Given the description of an element on the screen output the (x, y) to click on. 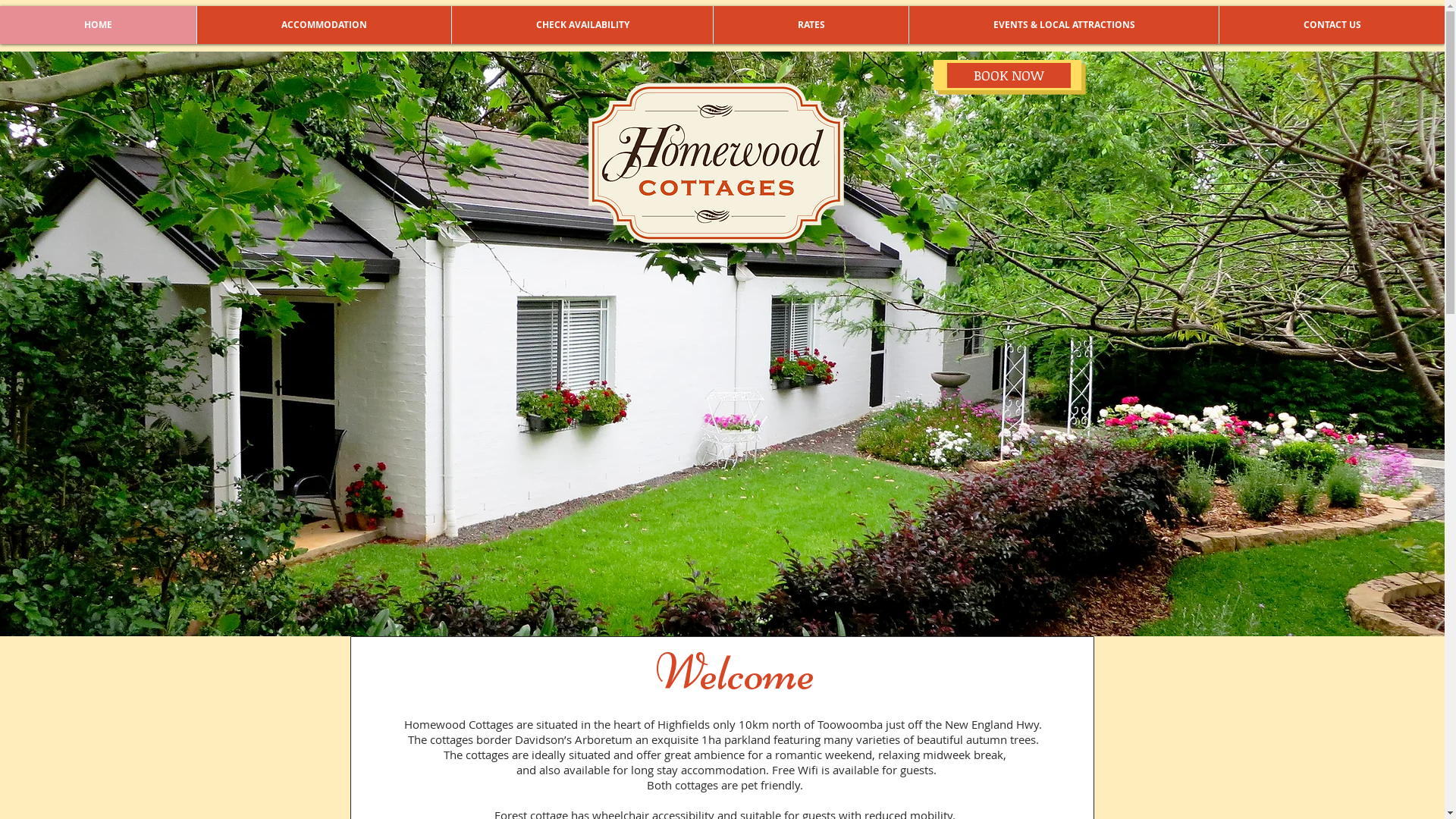
ACCOMMODATION Element type: text (323, 24)
CHECK AVAILABILITY Element type: text (581, 24)
BOOK NOW Element type: text (1008, 74)
EVENTS & LOCAL ATTRACTIONS Element type: text (1063, 24)
CONTACT US Element type: text (1331, 24)
RATES Element type: text (810, 24)
HOME Element type: text (98, 24)
